Given the description of an element on the screen output the (x, y) to click on. 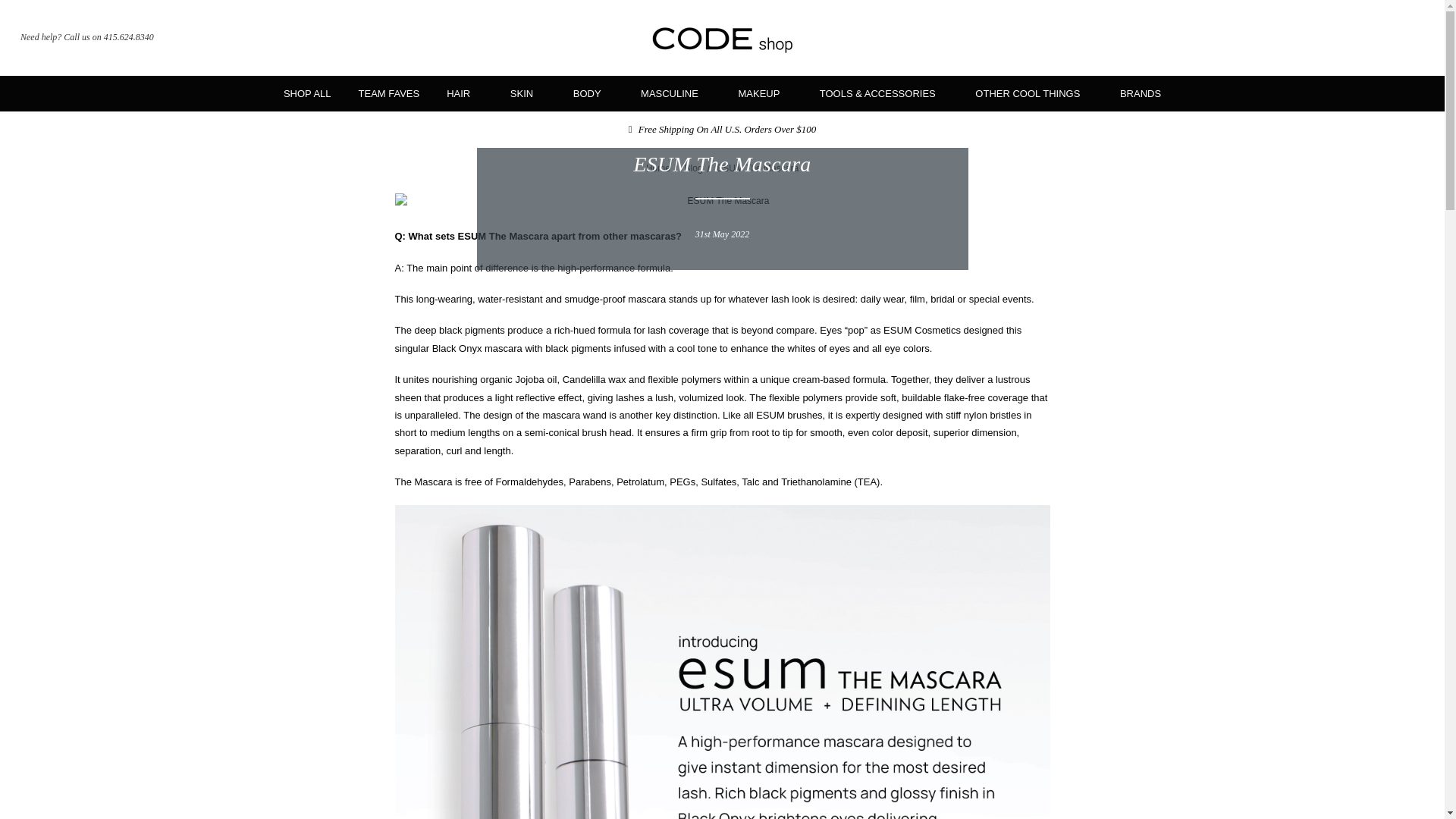
Need help? Call us on 415.624.8340 (86, 37)
SKIN (527, 93)
HAIR (464, 93)
SHOP ALL (307, 93)
CODE shop (721, 38)
MASCULINE (675, 93)
TEAM FAVES (389, 93)
BODY (593, 93)
ESUM The Mascara (721, 201)
